Given the description of an element on the screen output the (x, y) to click on. 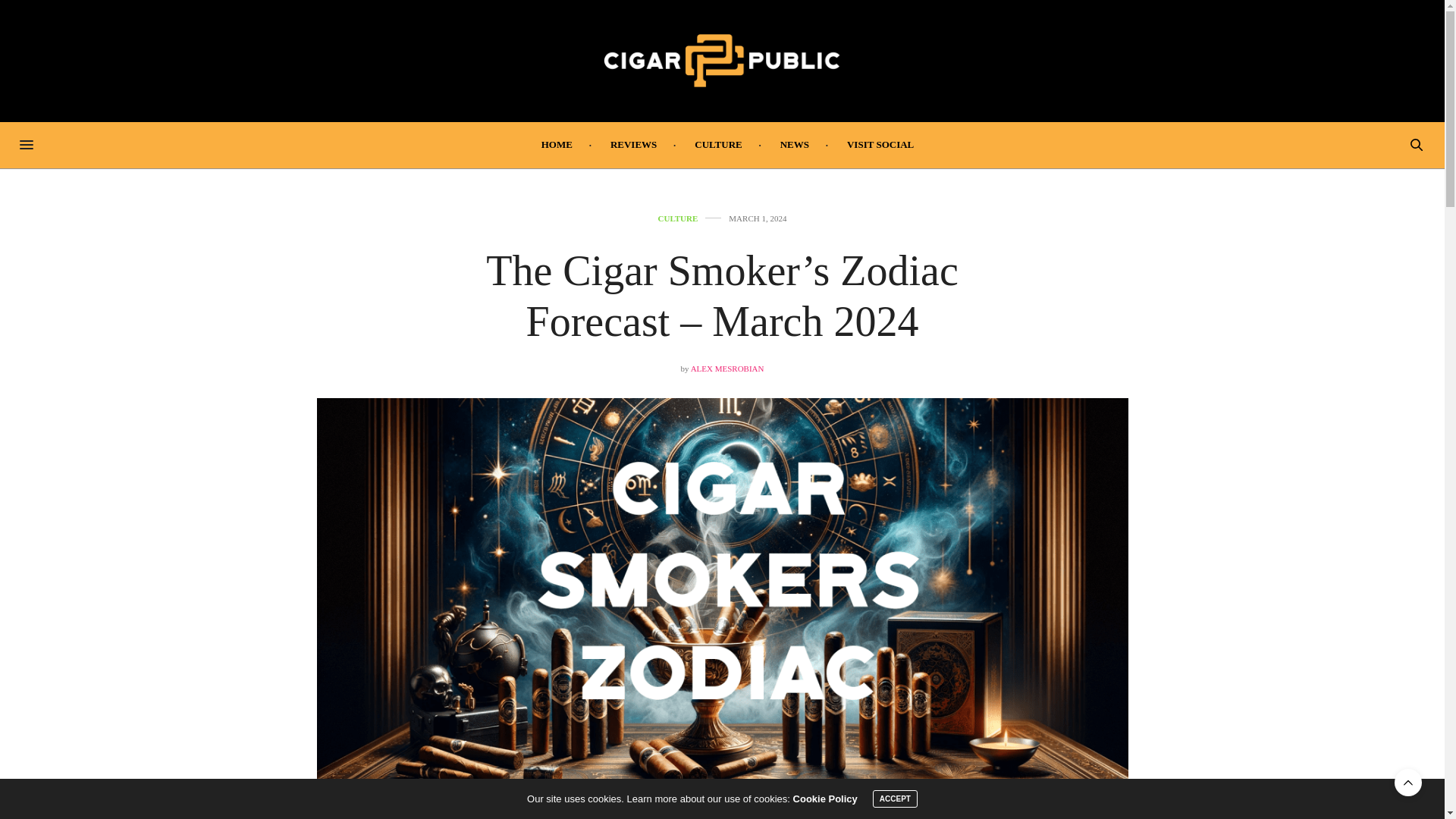
Cigar Public (722, 60)
Cookie Policy (825, 798)
ALEX MESROBIAN (727, 368)
CULTURE (718, 144)
Posts by Alex Mesrobian (727, 368)
Scroll To Top (1408, 782)
VISIT SOCIAL (880, 144)
HOME (556, 144)
REVIEWS (632, 144)
CULTURE (678, 218)
